Given the description of an element on the screen output the (x, y) to click on. 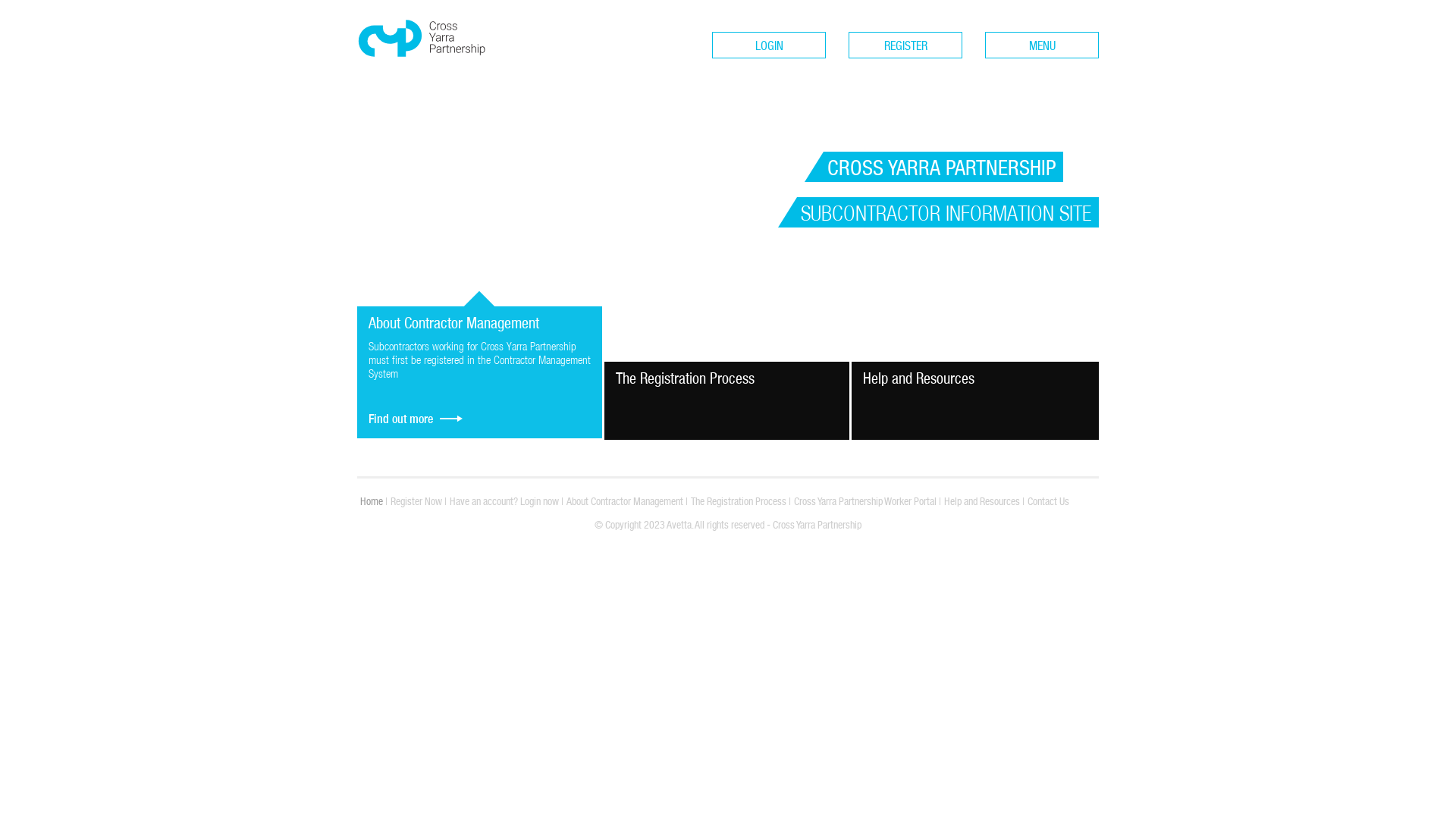
Register Now Element type: text (416, 501)
Cross Yarra Partnership Element type: text (421, 65)
Have an account? Login now Element type: text (503, 501)
LOGIN Element type: text (768, 44)
Help and Resources Element type: text (981, 501)
Cross Yarra Partnership Worker Portal Element type: text (864, 501)
About Contractor Management Element type: text (624, 501)
The Registration Process Element type: text (738, 501)
Contact Us Element type: text (1048, 501)
Home Element type: text (371, 501)
MENU Element type: text (1041, 44)
Find out more Element type: text (417, 414)
REGISTER Element type: text (905, 44)
